Given the description of an element on the screen output the (x, y) to click on. 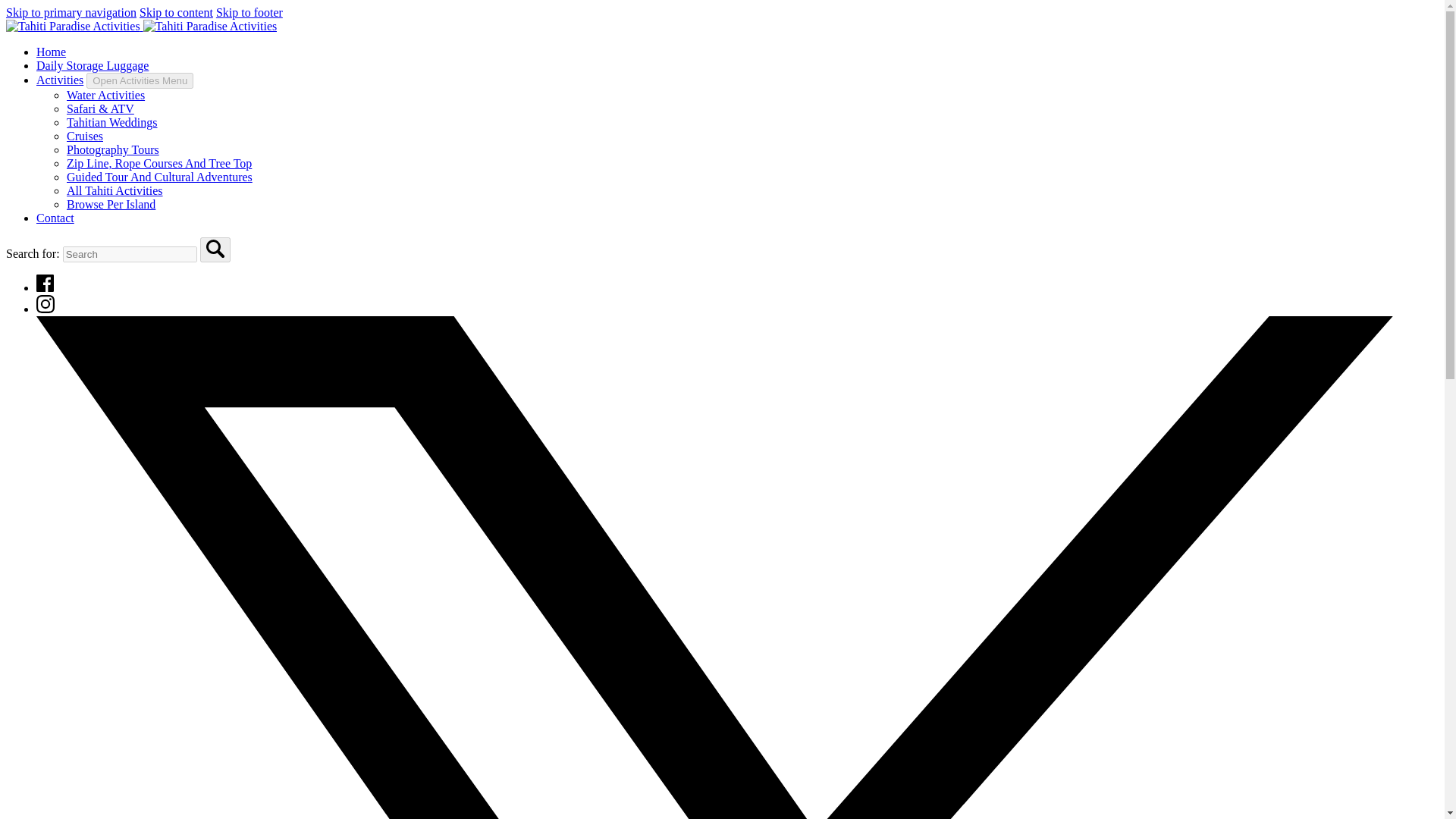
Skip to footer (248, 11)
Cruises (84, 135)
Guided Tour And Cultural Adventures (158, 176)
Water Activities (105, 94)
Daily Storage Luggage (92, 65)
Browse Per Island (110, 204)
Visit our Facebook (44, 287)
Open Activities Menu (139, 80)
Tahitian Weddings (111, 122)
Instagram (45, 308)
